Given the description of an element on the screen output the (x, y) to click on. 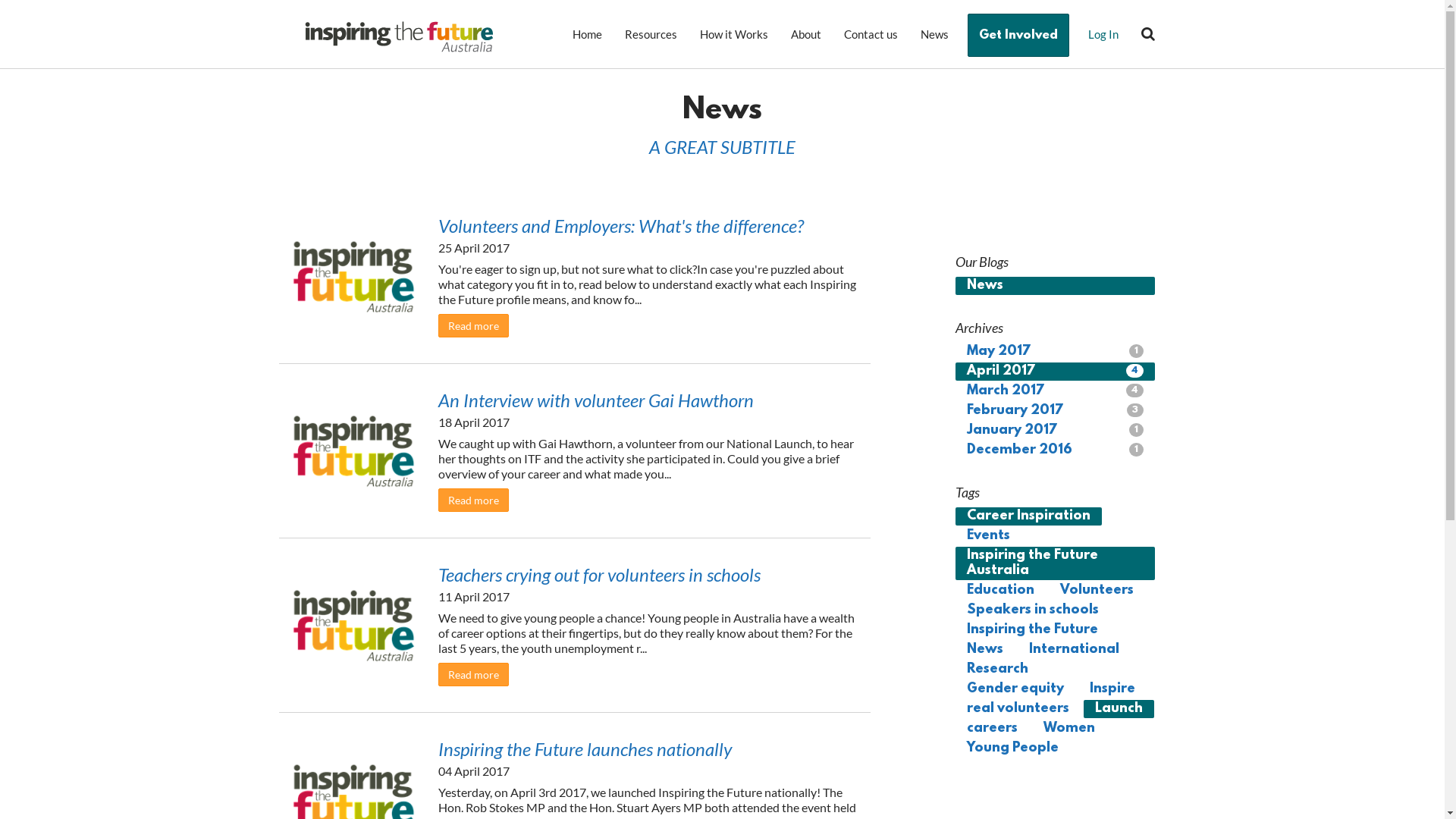
Launch Element type: text (1118, 708)
Young People Element type: text (1012, 747)
Get Involved Element type: text (1018, 34)
An Interview with volunteer Gai Hawthorn Element type: text (595, 399)
Log In Element type: text (1102, 34)
International Element type: text (1073, 649)
How it Works Element type: text (733, 34)
Gender equity Element type: text (1015, 688)
real volunteers Element type: text (1017, 708)
News Element type: text (984, 649)
Events Element type: text (988, 535)
Career Inspiration Element type: text (1028, 515)
Read more Element type: text (473, 674)
Inspire Element type: text (1112, 688)
Volunteers Element type: text (1096, 589)
May 2017
1 Element type: text (1054, 351)
Research Element type: text (997, 668)
News Element type: text (933, 34)
Contact us Element type: text (870, 34)
Volunteers and Employers: What's the difference? Element type: text (620, 224)
Read more Element type: text (473, 325)
About Element type: text (805, 34)
careers Element type: text (992, 727)
Speakers in schools Element type: text (1032, 609)
Read more Element type: text (473, 500)
Resources Element type: text (649, 34)
April 2017
4 Element type: text (1054, 371)
Inspiring the Future launches nationally Element type: text (584, 748)
Home Element type: text (587, 34)
News Element type: text (1054, 285)
Inspiring The Future AUSTRALIA Element type: hover (398, 35)
Teachers crying out for volunteers in schools Element type: text (599, 573)
Women Element type: text (1069, 727)
Inspiring the Future Australia Element type: text (1054, 562)
March 2017
4 Element type: text (1054, 391)
Education Element type: text (1000, 589)
January 2017
1 Element type: text (1054, 430)
Inspiring the Future Element type: text (1032, 629)
February 2017
3 Element type: text (1054, 410)
December 2016
1 Element type: text (1054, 450)
